Given the description of an element on the screen output the (x, y) to click on. 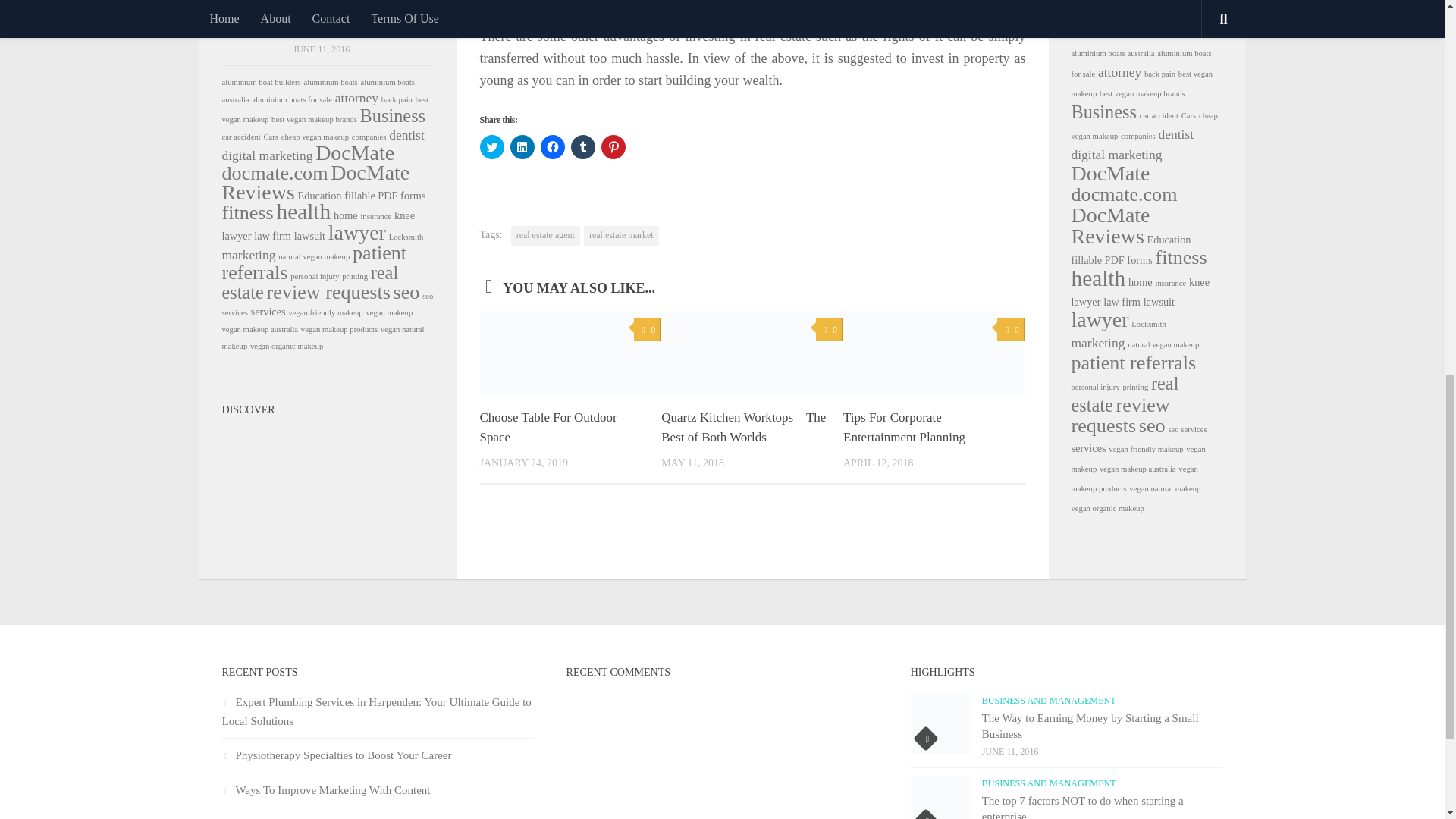
real estate agent (545, 235)
Click to share on Twitter (491, 146)
Click to share on LinkedIn (521, 146)
0 (647, 330)
Click to share on Pinterest (611, 146)
0 (829, 330)
Click to share on Tumblr (582, 146)
Click to share on Facebook (552, 146)
real estate market (621, 235)
Choose Table For Outdoor Space (547, 427)
